Given the description of an element on the screen output the (x, y) to click on. 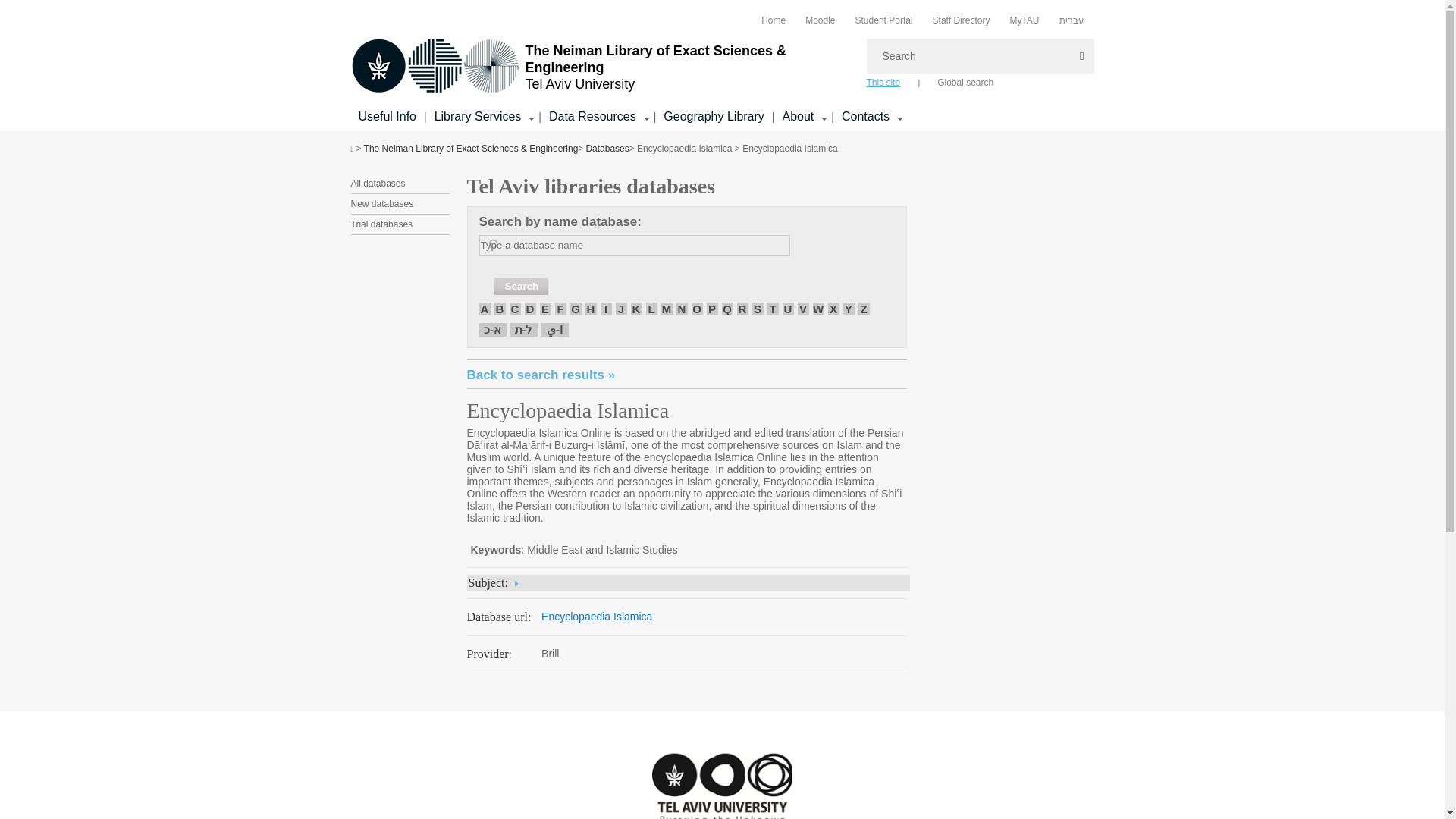
Student Portal (884, 20)
Student Portal open in new window (884, 20)
Go to homepage (600, 66)
Staff Directory open in new window (961, 20)
Library Services (386, 115)
Home (773, 20)
MyTAU open in new window (1024, 20)
Data Resources (592, 116)
Staff Directory (961, 20)
Moodle open in new window (819, 20)
Home (773, 20)
Search (521, 285)
MyTAU (1024, 20)
